Given the description of an element on the screen output the (x, y) to click on. 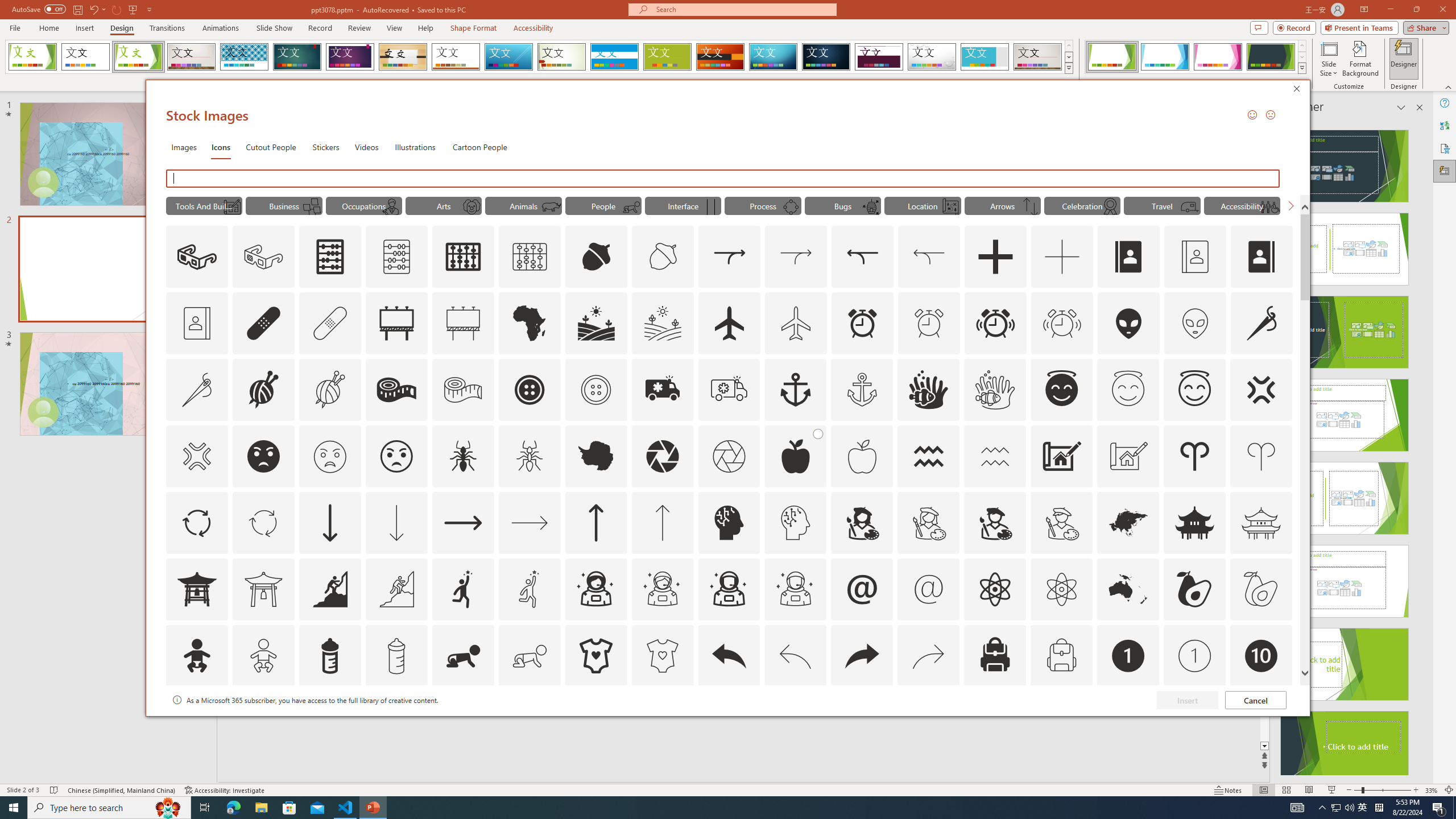
AutomationID: Icons_Abacus1 (462, 256)
AutomationID: Icons_Baby (196, 655)
AutomationID: Icons_Badge3_M (462, 721)
"Arrows" Icons. (1002, 205)
AutomationID: Icons_Acorn (596, 256)
AutomationID: Icons_Aspiration (329, 588)
Zoom 33% (1431, 790)
AutomationID: Icons_Badge5 (662, 721)
AutomationID: Icons_AlienFace_M (1194, 323)
